Given the description of an element on the screen output the (x, y) to click on. 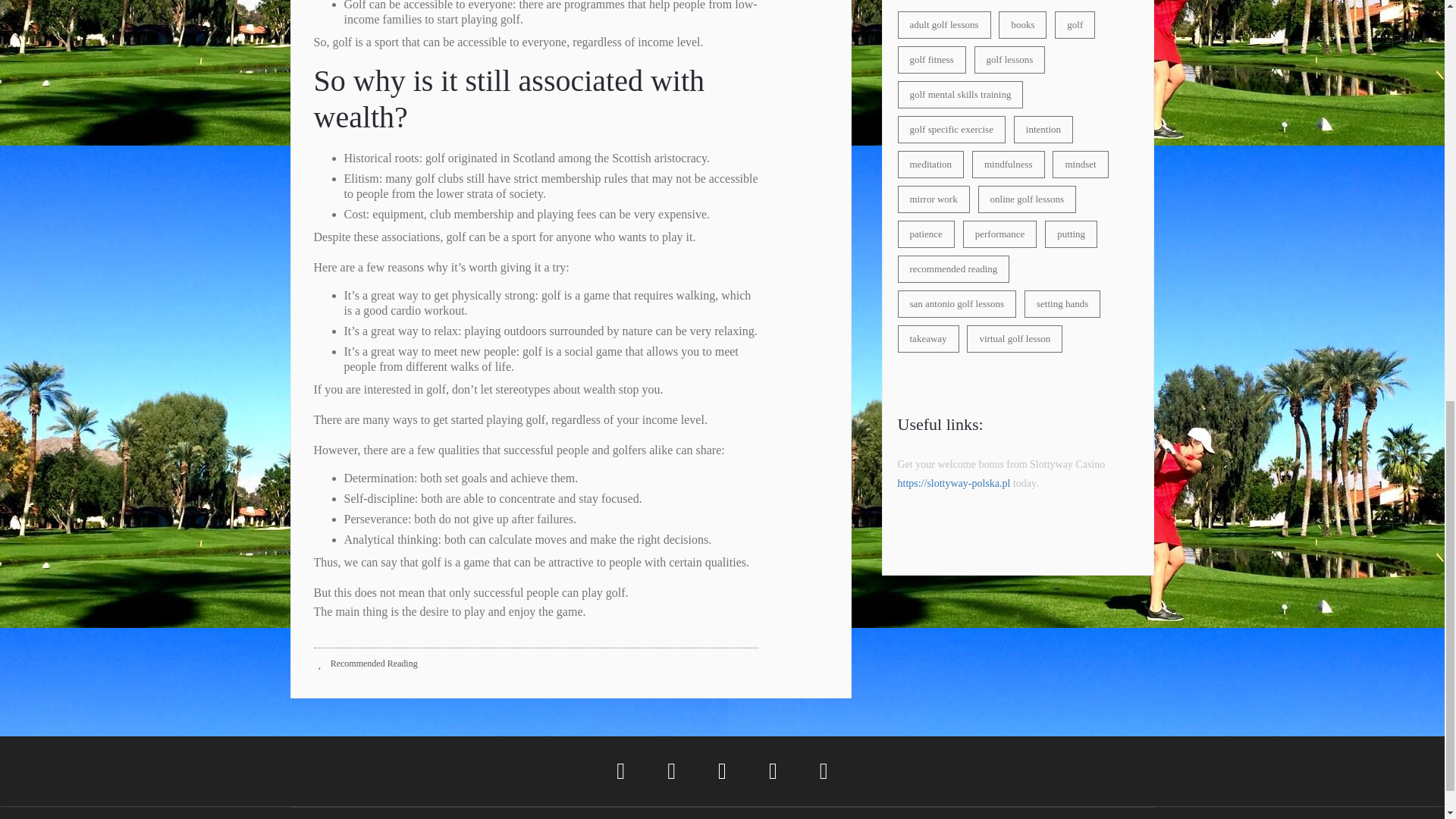
online golf lessons (1027, 198)
recommended reading (954, 268)
mindset (1080, 164)
performance (999, 234)
mirror work (933, 198)
patience (926, 234)
san antonio golf lessons (957, 303)
golf specific exercise (952, 129)
intention (1043, 129)
mindfulness (1008, 164)
